Given the description of an element on the screen output the (x, y) to click on. 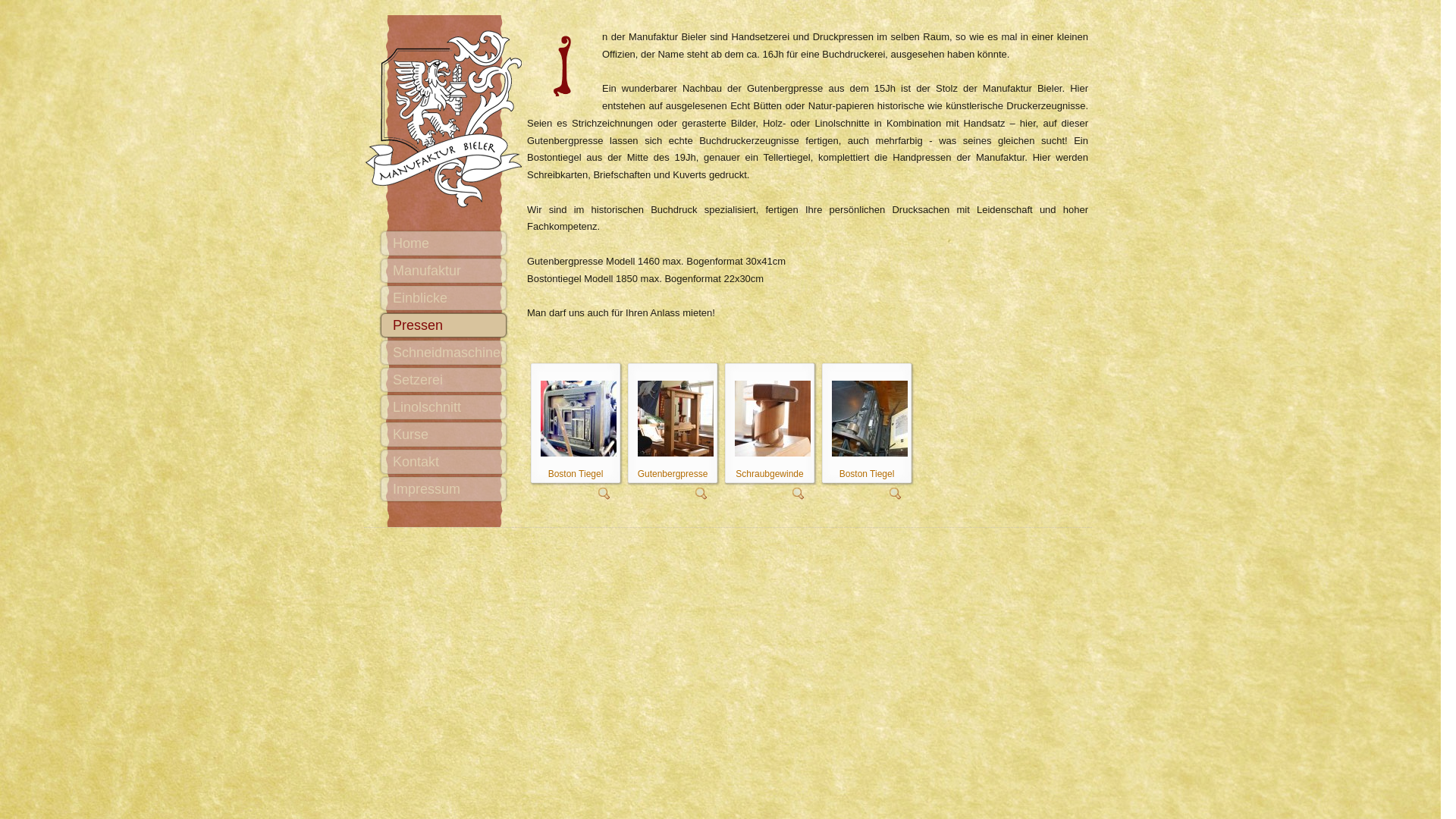
Kurse Element type: text (443, 434)
Schraubgewinde Element type: hover (772, 417)
Linolschnitt Element type: text (443, 407)
Pressen Element type: text (443, 325)
Einblicke Element type: text (443, 297)
Home Element type: text (443, 243)
Image Detail Element type: hover (604, 492)
Schneidmaschine Element type: text (443, 352)
Image Detail Element type: hover (895, 492)
Boston Tiegel Element type: hover (578, 417)
Image Detail Element type: hover (798, 492)
Gutenbergpresse Element type: hover (675, 417)
Impressum Element type: text (443, 488)
Setzerei Element type: text (443, 379)
Kontakt Element type: text (443, 461)
Boston Tiegel Element type: hover (869, 417)
Manufaktur Element type: text (443, 270)
Image Detail Element type: hover (701, 492)
